Given the description of an element on the screen output the (x, y) to click on. 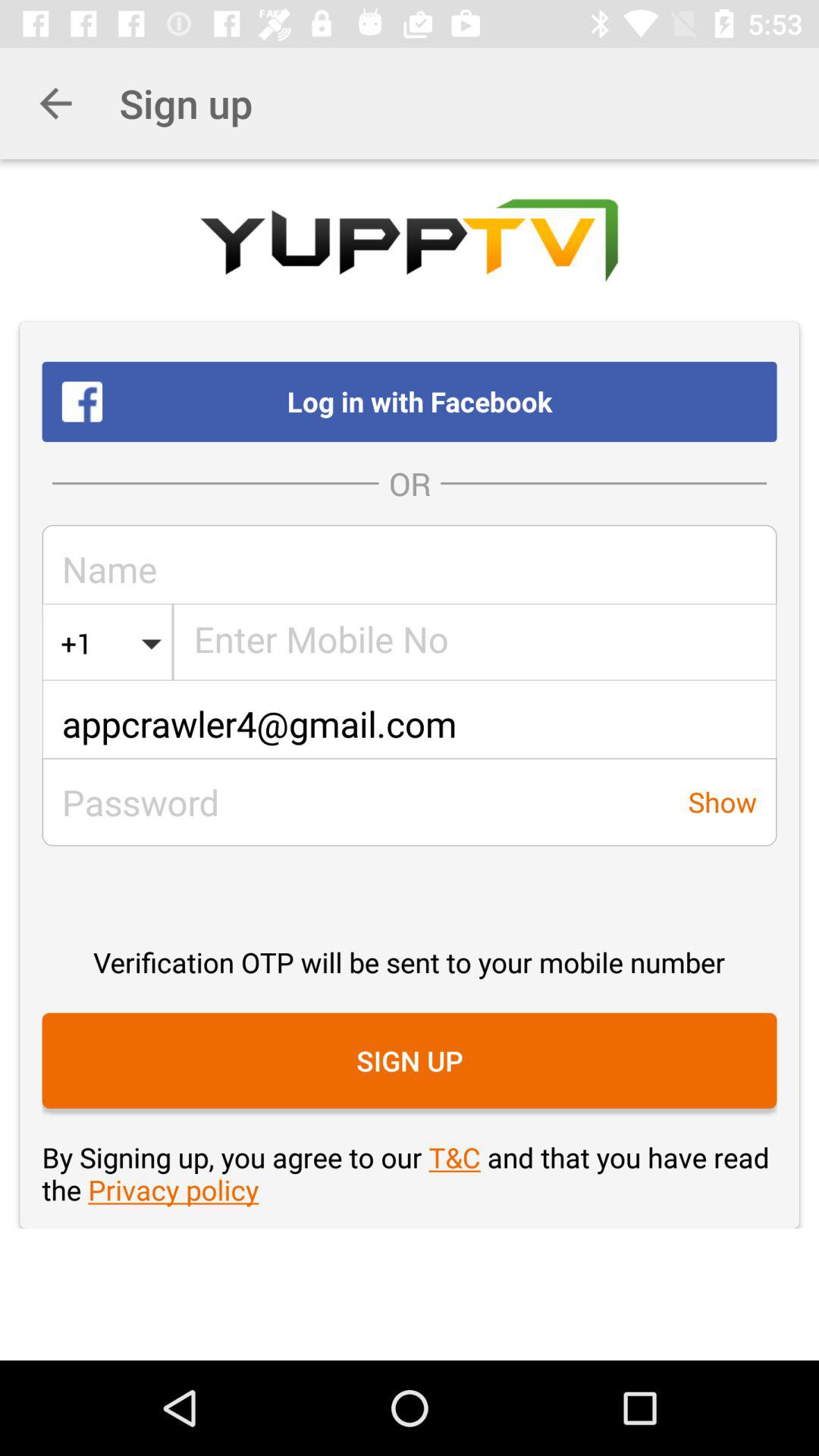
tap the icon below the or (475, 643)
